Given the description of an element on the screen output the (x, y) to click on. 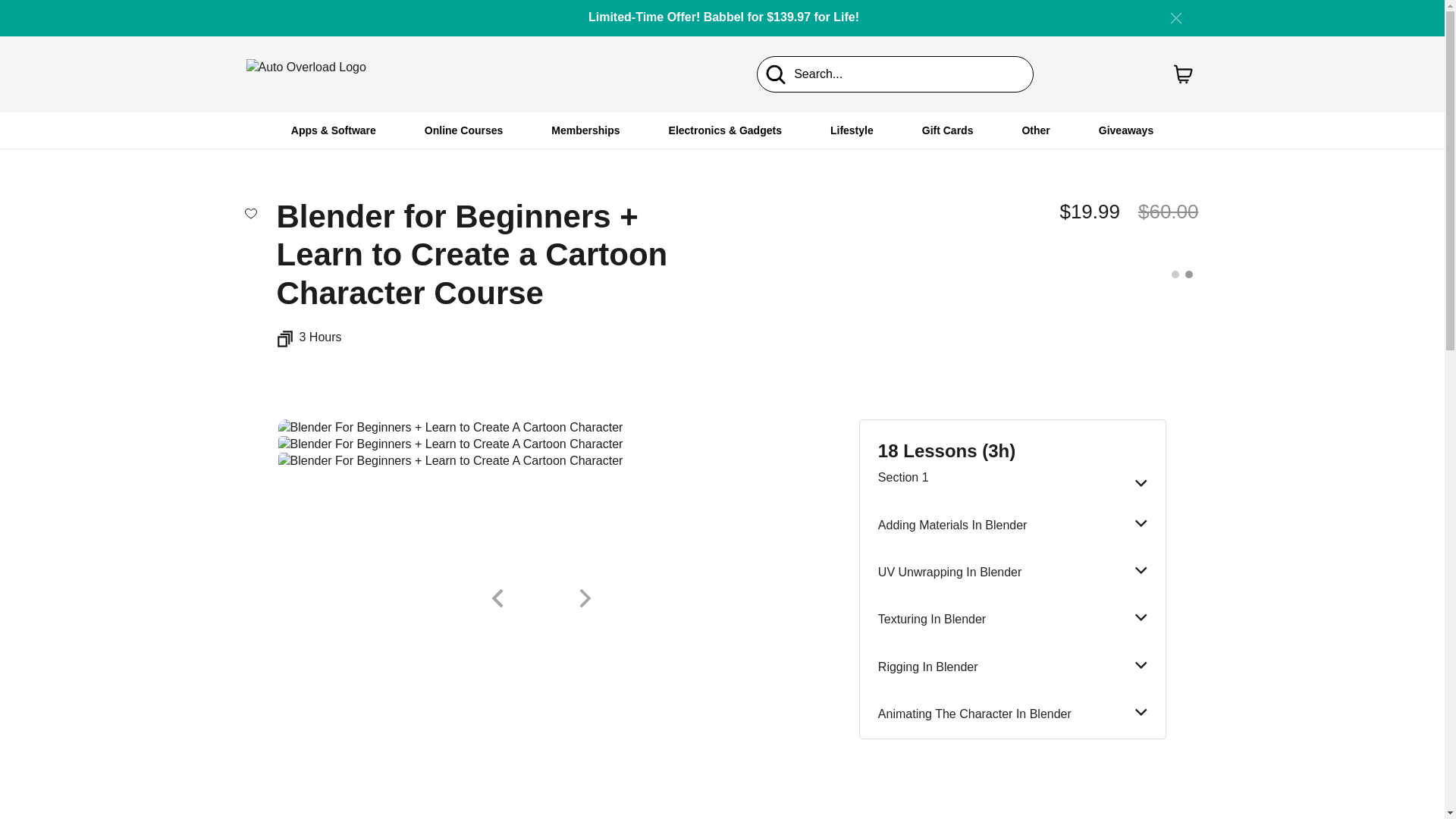
Add to wishlist (250, 212)
